Given the description of an element on the screen output the (x, y) to click on. 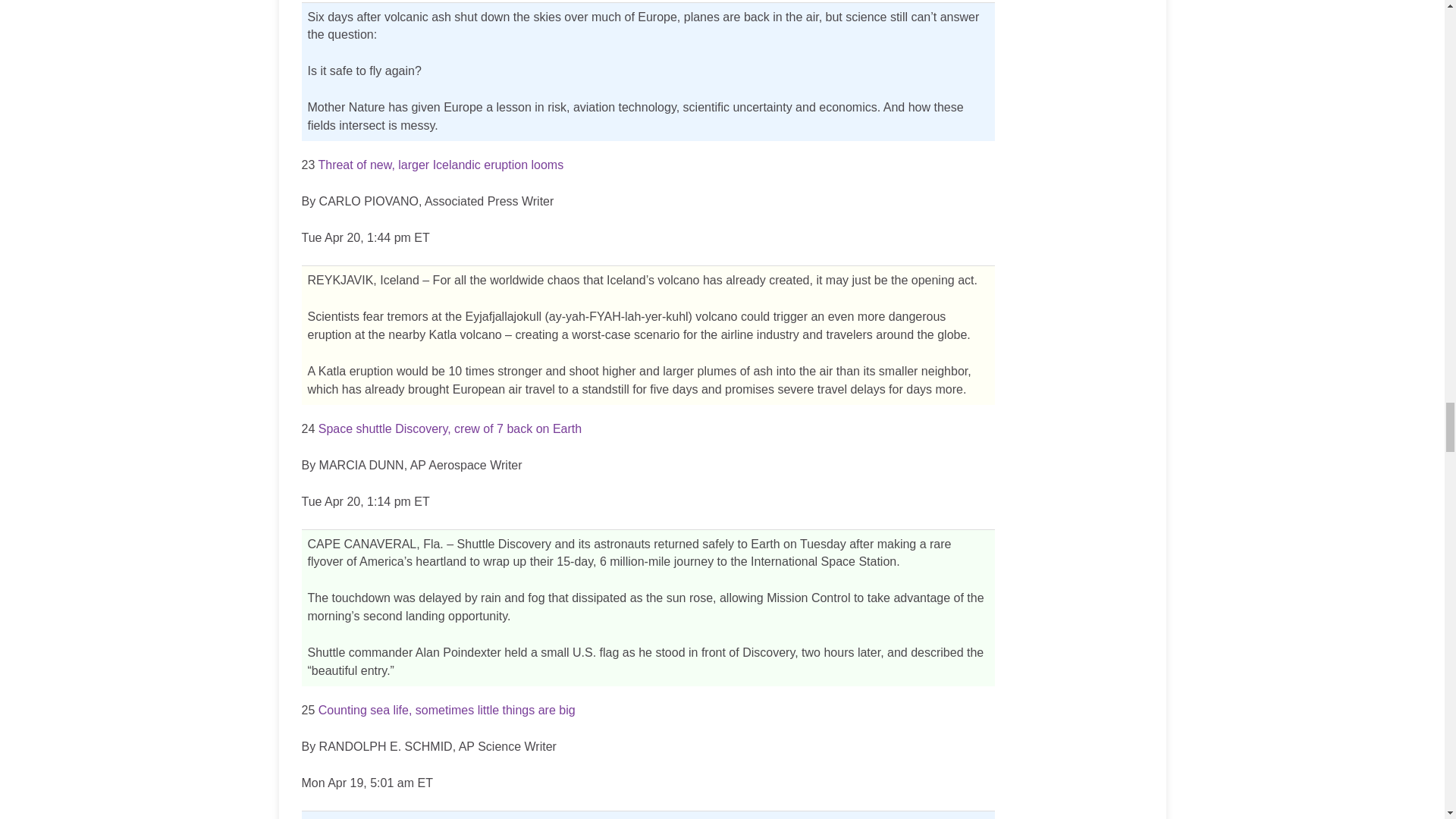
Counting sea life, sometimes little things are big (446, 709)
Space shuttle Discovery, crew of 7 back on Earth (449, 428)
Threat of new, larger Icelandic eruption looms (440, 164)
